Given the description of an element on the screen output the (x, y) to click on. 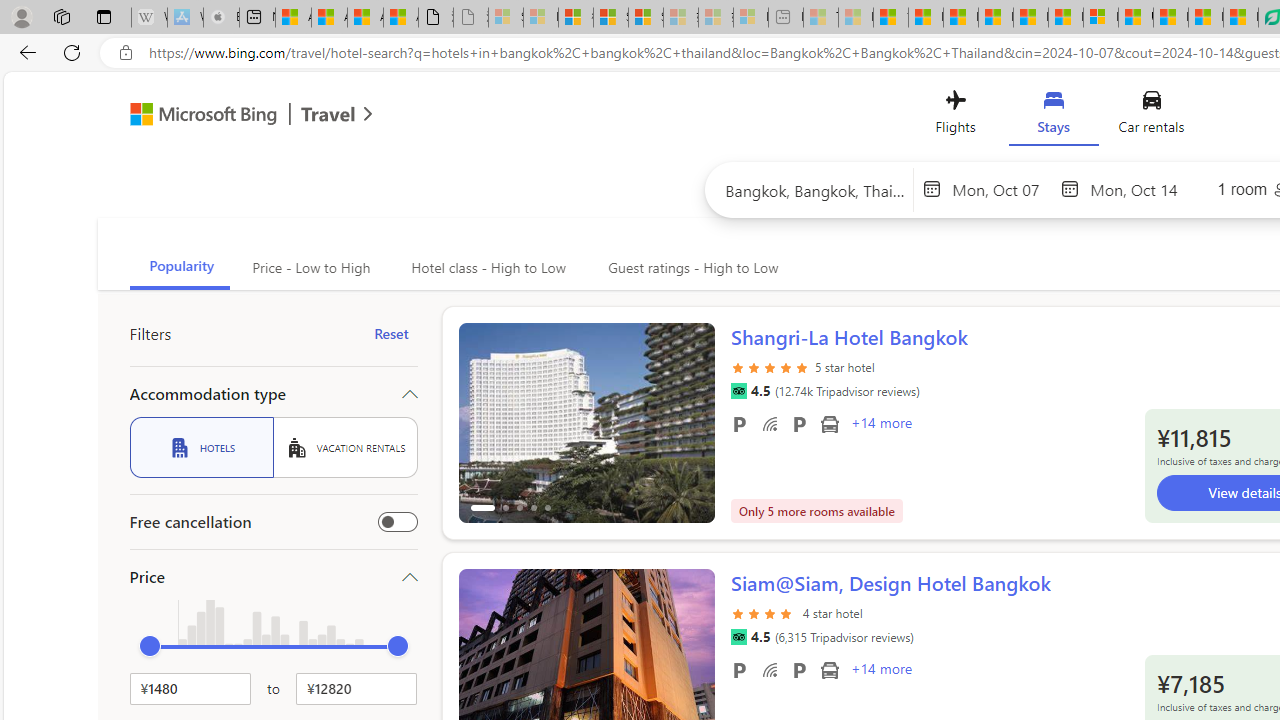
Buy iPad - Apple - Sleeping (221, 17)
Microsoft Bing Travel (229, 116)
Free cancellation (397, 521)
US Heat Deaths Soared To Record High Last Year (1135, 17)
max  (397, 645)
Guest ratings - High to Low (690, 268)
Travel (328, 116)
Start Date (1001, 188)
Aberdeen, Hong Kong SAR weather forecast | Microsoft Weather (329, 17)
Top Stories - MSN - Sleeping (820, 17)
